Given the description of an element on the screen output the (x, y) to click on. 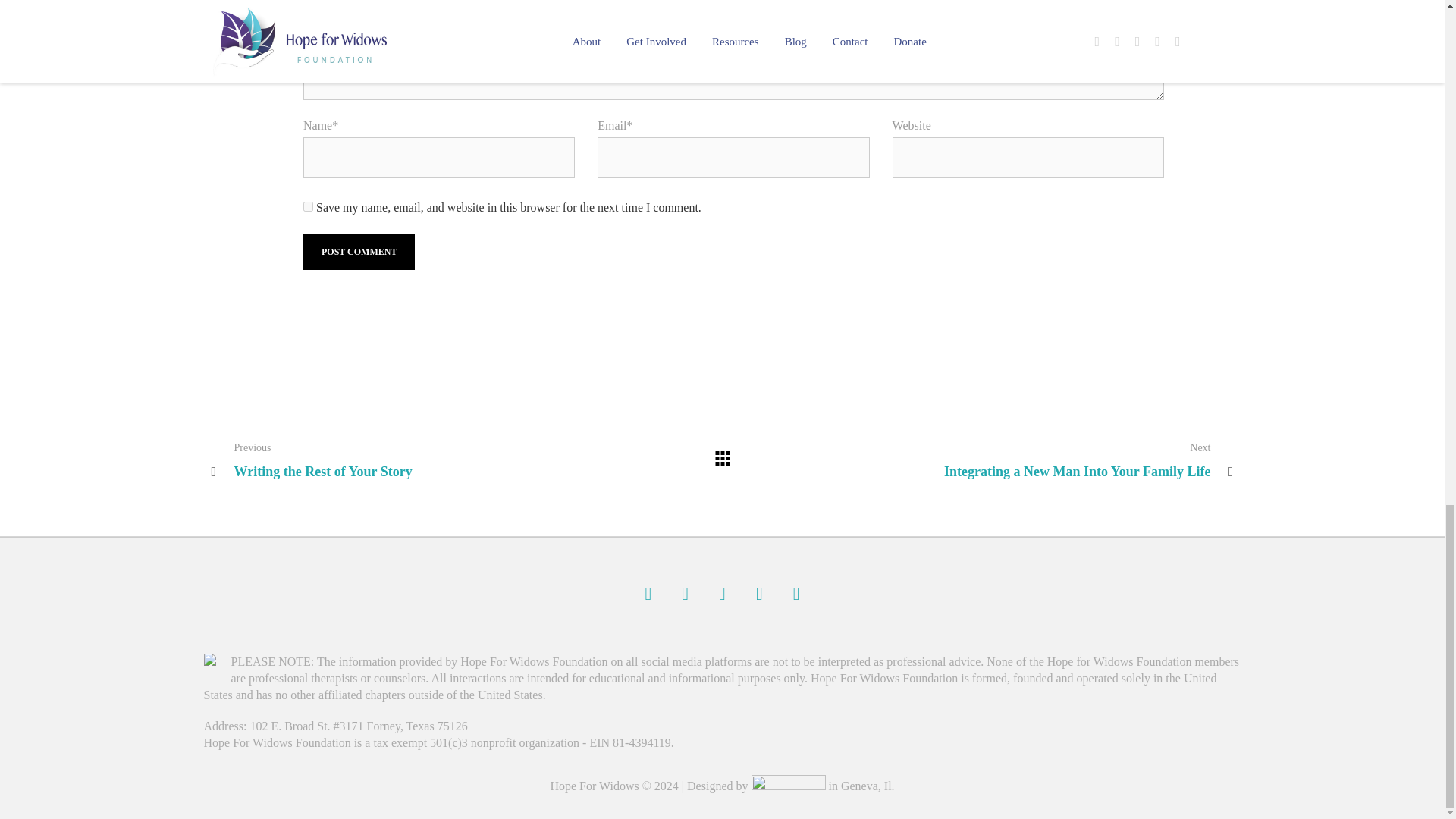
yes (307, 206)
Post Comment (358, 251)
